Given the description of an element on the screen output the (x, y) to click on. 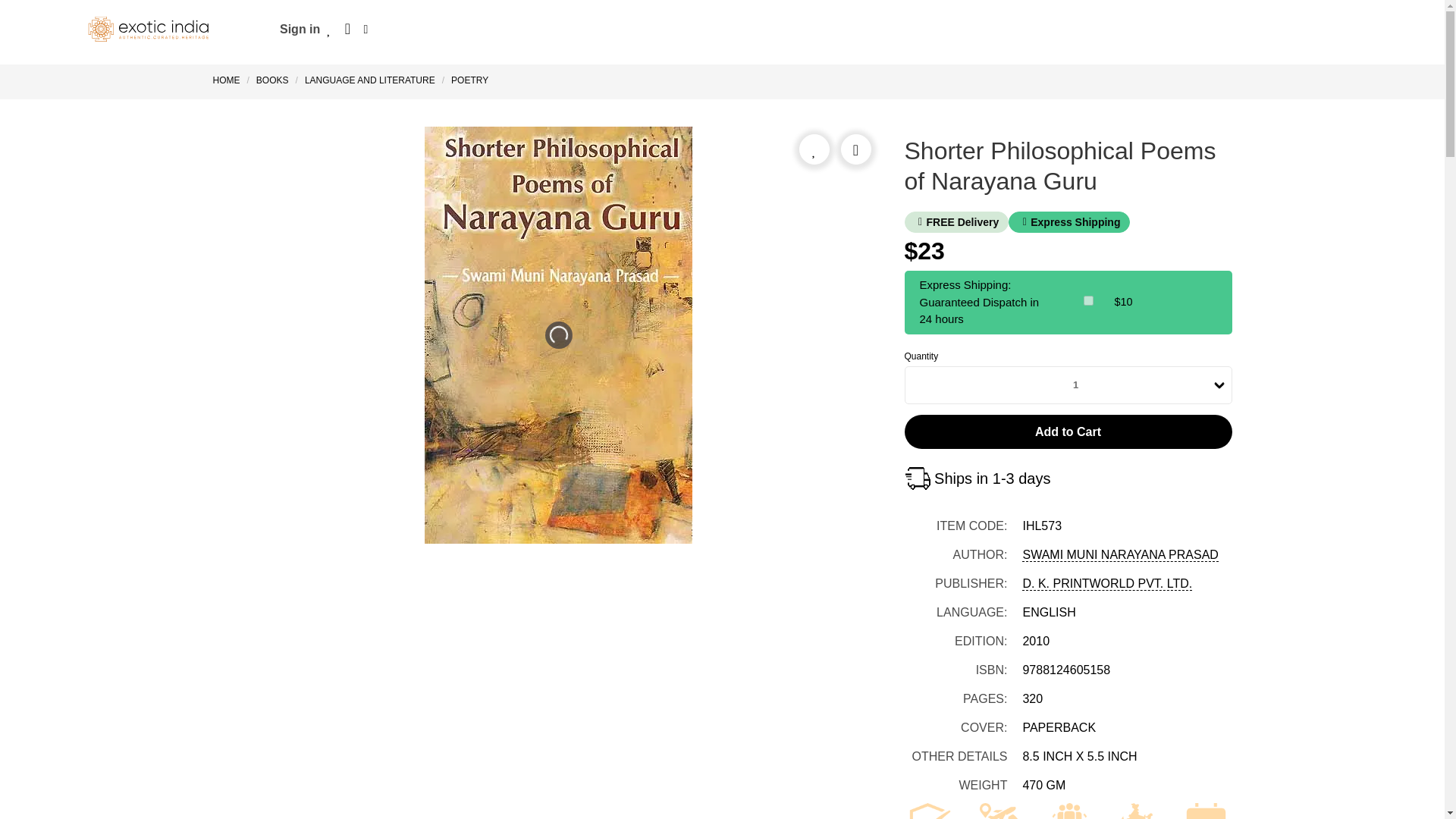
Save to Wishlist (814, 149)
Poetry (469, 79)
Sign in (299, 29)
Books (271, 79)
SWAMI MUNI NARAYANA PRASAD (1119, 554)
POETRY (469, 79)
HOME (229, 79)
Language and Literature (370, 79)
Sign in (299, 29)
